Given the description of an element on the screen output the (x, y) to click on. 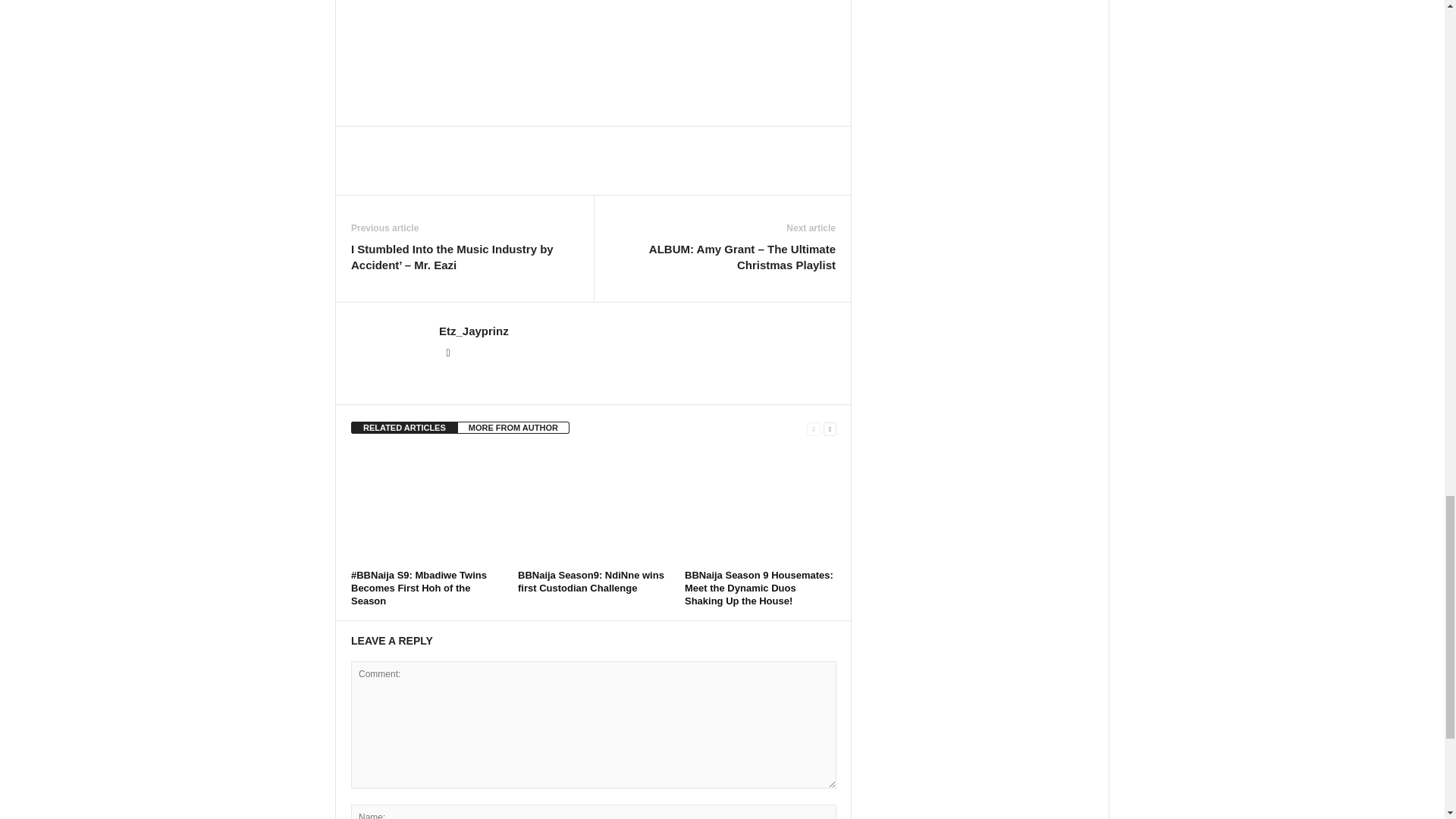
bottomFacebookLike (390, 141)
